Given the description of an element on the screen output the (x, y) to click on. 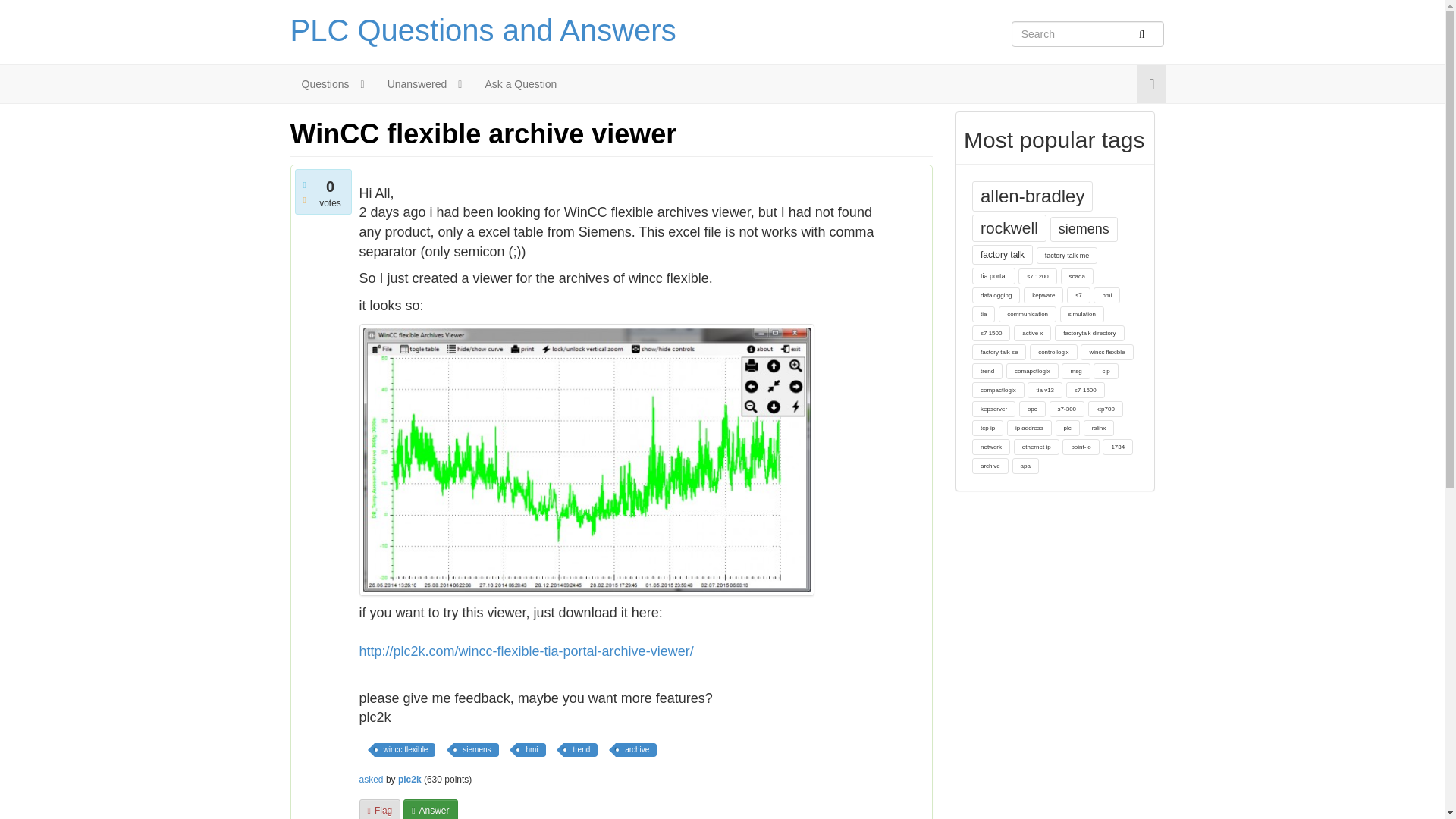
plc2k (409, 778)
archive (635, 749)
Flag (380, 809)
WinCC flexible archive viewer (483, 133)
trend (579, 749)
Answer (430, 809)
Questions (319, 84)
hmi (530, 749)
PLC Questions and Answers (482, 30)
Unanswered (410, 84)
